Given the description of an element on the screen output the (x, y) to click on. 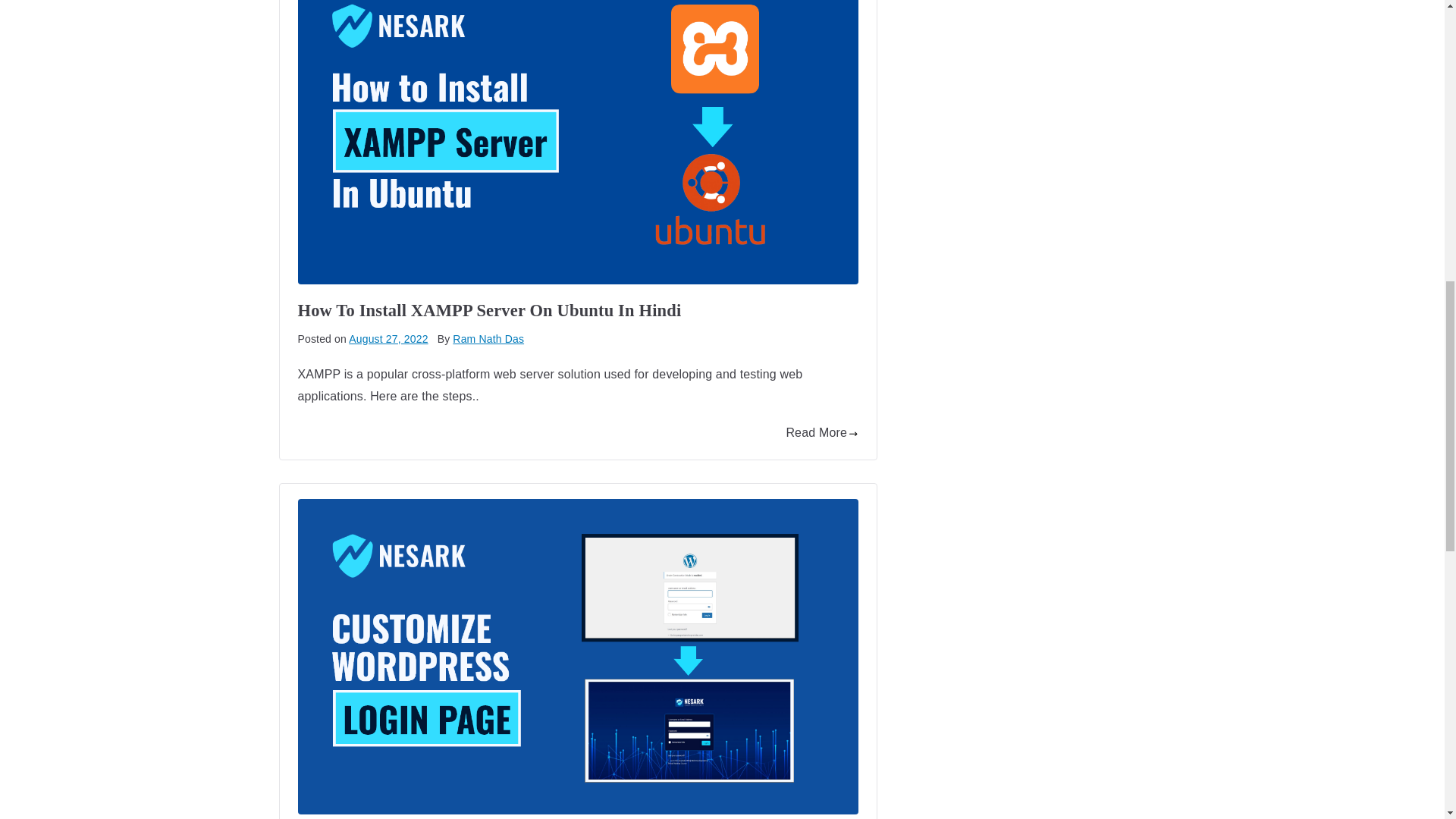
Read More (821, 433)
How To Install XAMPP Server On Ubuntu In Hindi (489, 310)
Ram Nath Das (488, 338)
August 27, 2022 (388, 338)
